Given the description of an element on the screen output the (x, y) to click on. 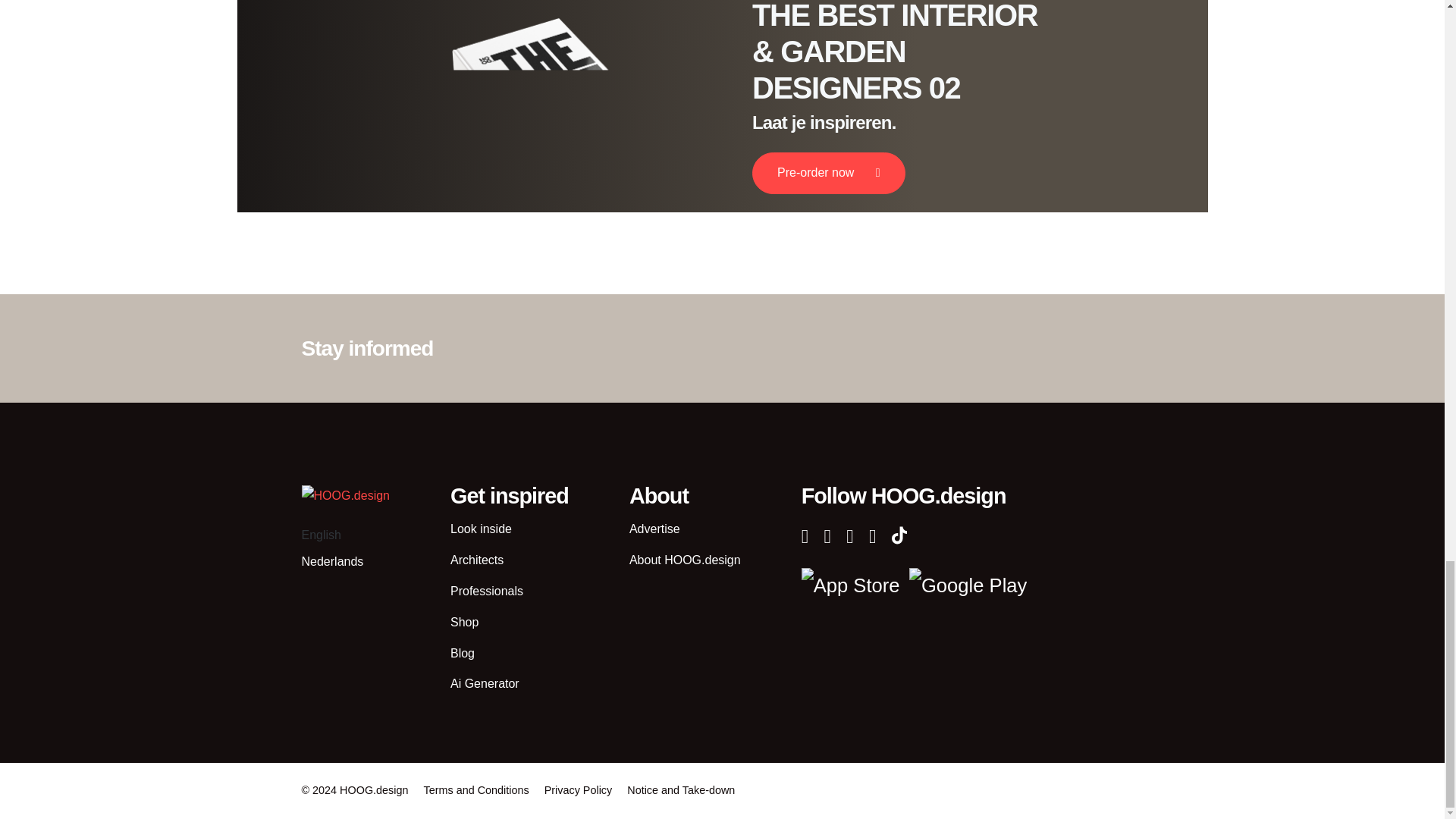
Blog (461, 653)
Shop (464, 622)
Architects (476, 560)
About HOOG.design (684, 560)
Look inside (480, 529)
Advertise (653, 529)
Professionals (485, 591)
Ai Generator (484, 684)
